Given the description of an element on the screen output the (x, y) to click on. 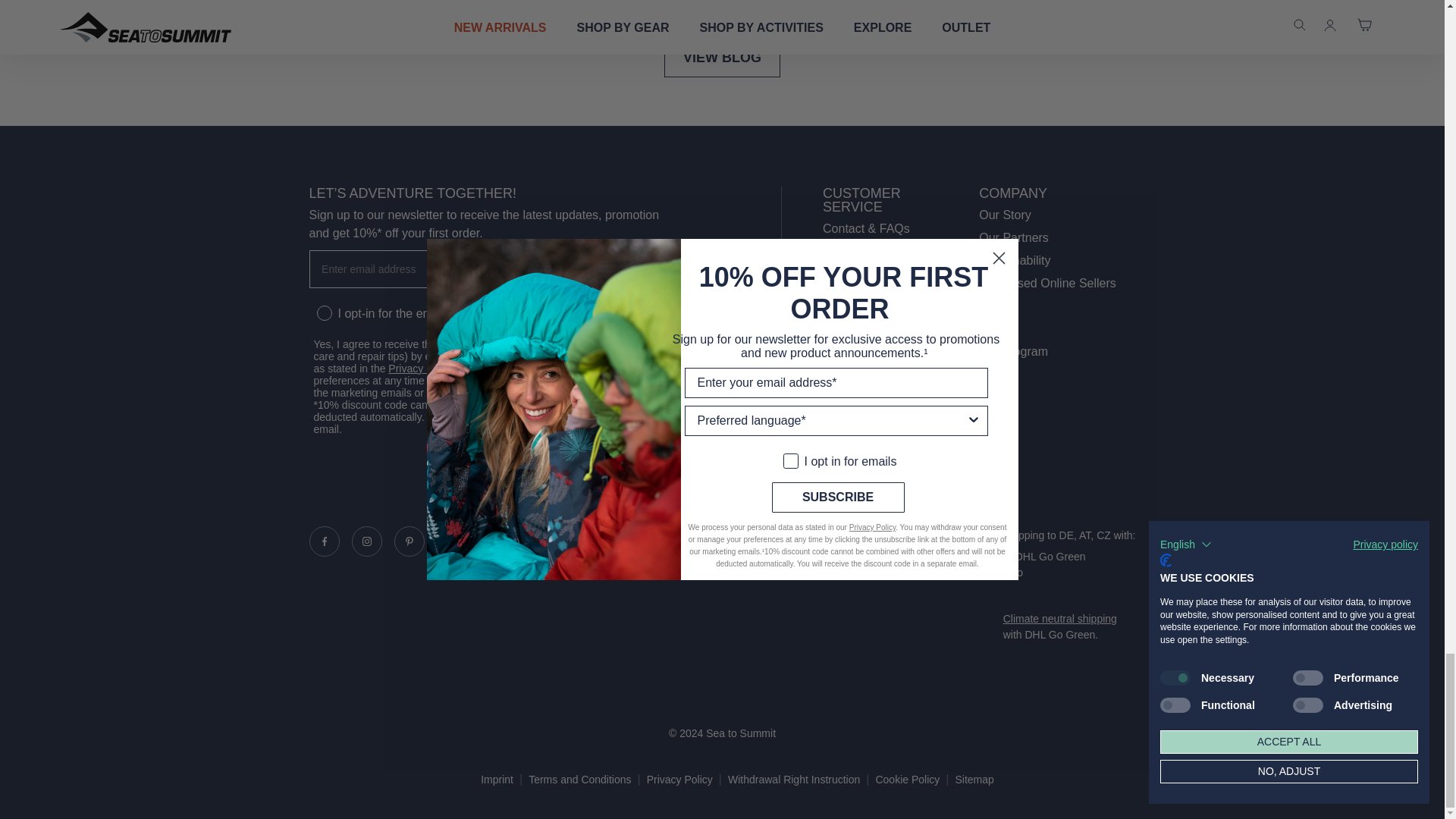
on (321, 300)
